Given the description of an element on the screen output the (x, y) to click on. 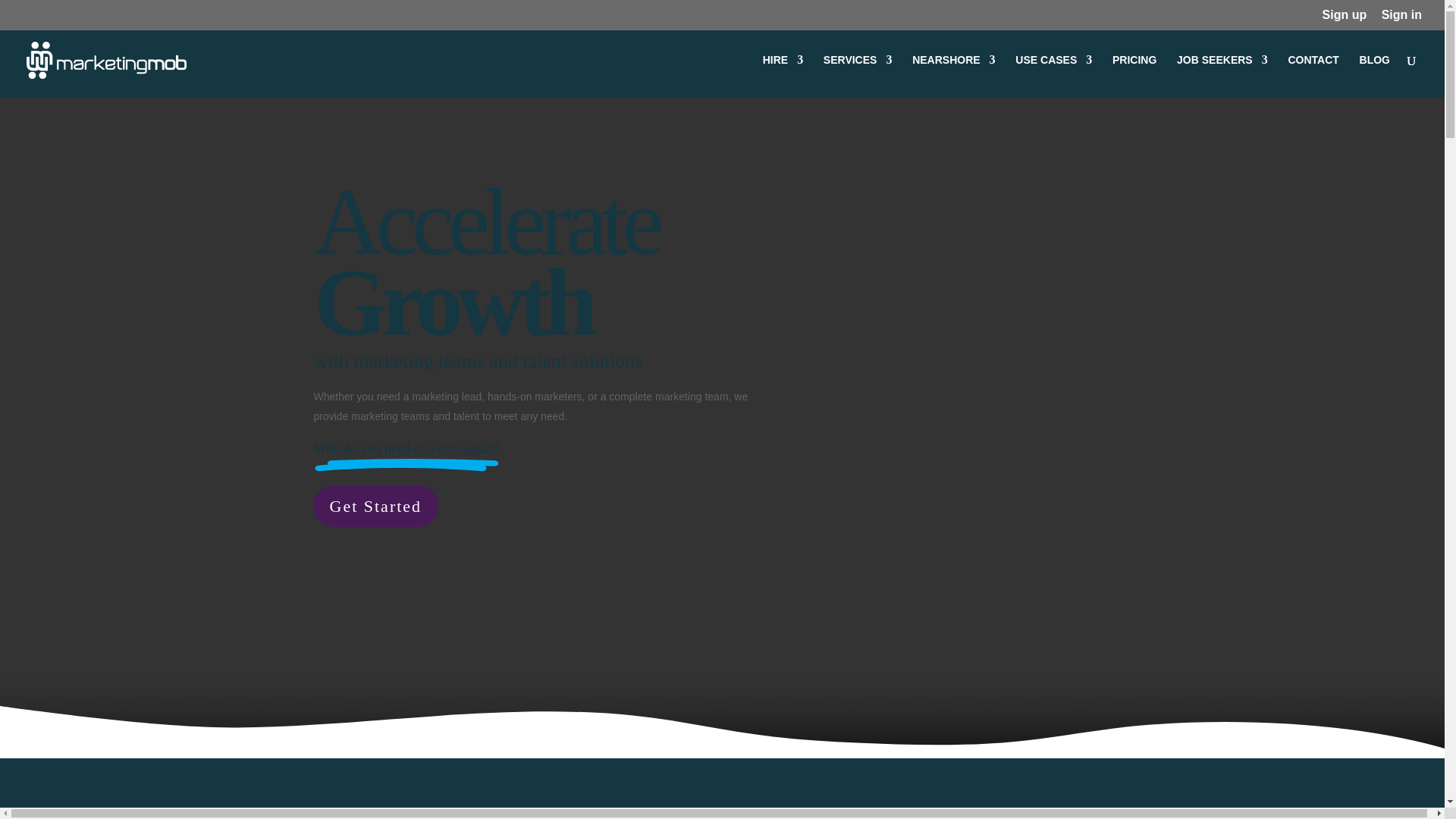
USE CASES (1053, 75)
NEARSHORE (953, 75)
Get Started (375, 506)
SERVICES (858, 75)
CONTACT (1312, 75)
JOB SEEKERS (1222, 75)
Sign up (1344, 19)
PRICING (1134, 75)
HIRE (782, 75)
Get Started (375, 506)
